Given the description of an element on the screen output the (x, y) to click on. 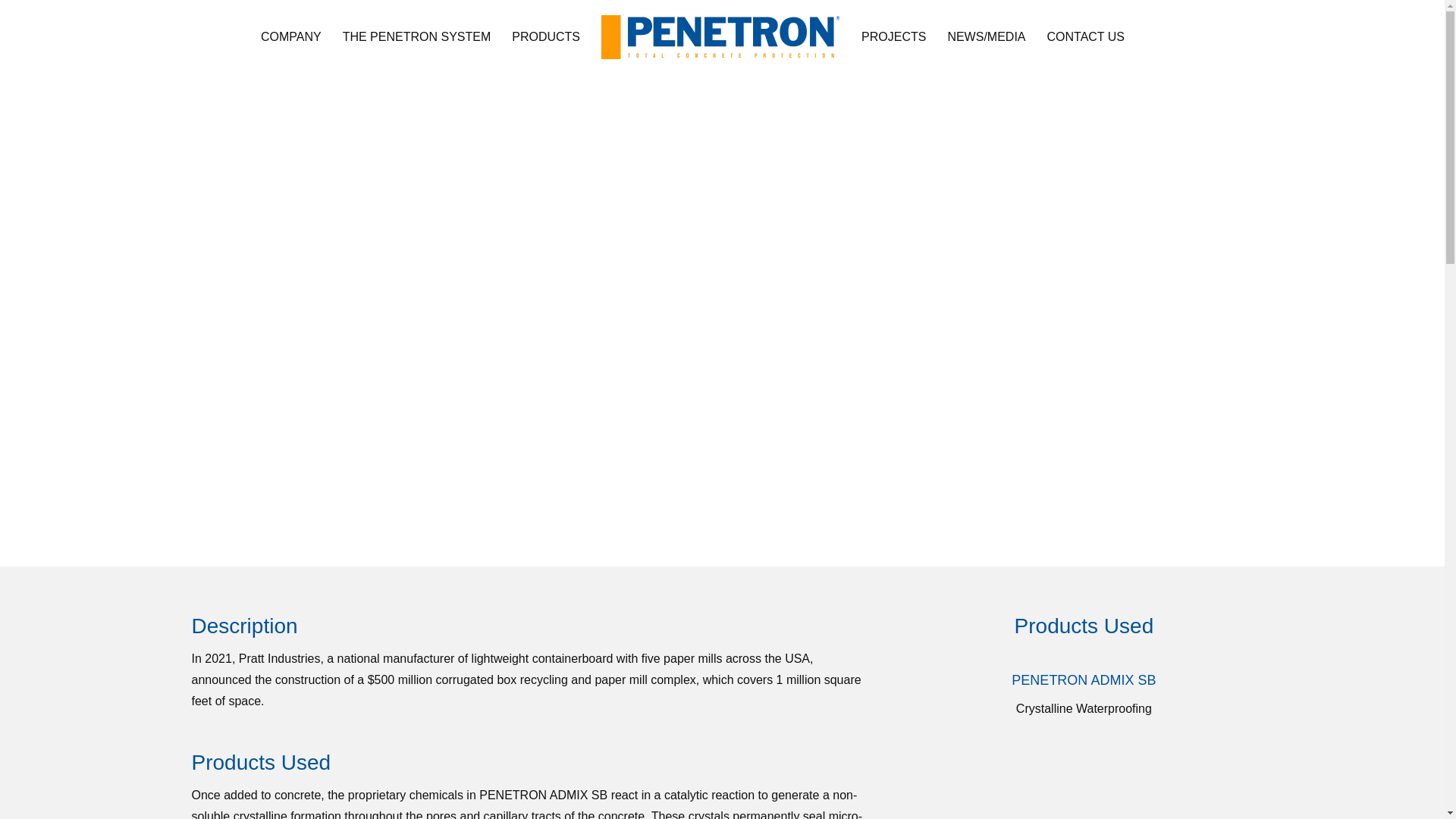
PRODUCTS (545, 37)
THE PENETRON SYSTEM (416, 37)
COMPANY (290, 37)
